Given the description of an element on the screen output the (x, y) to click on. 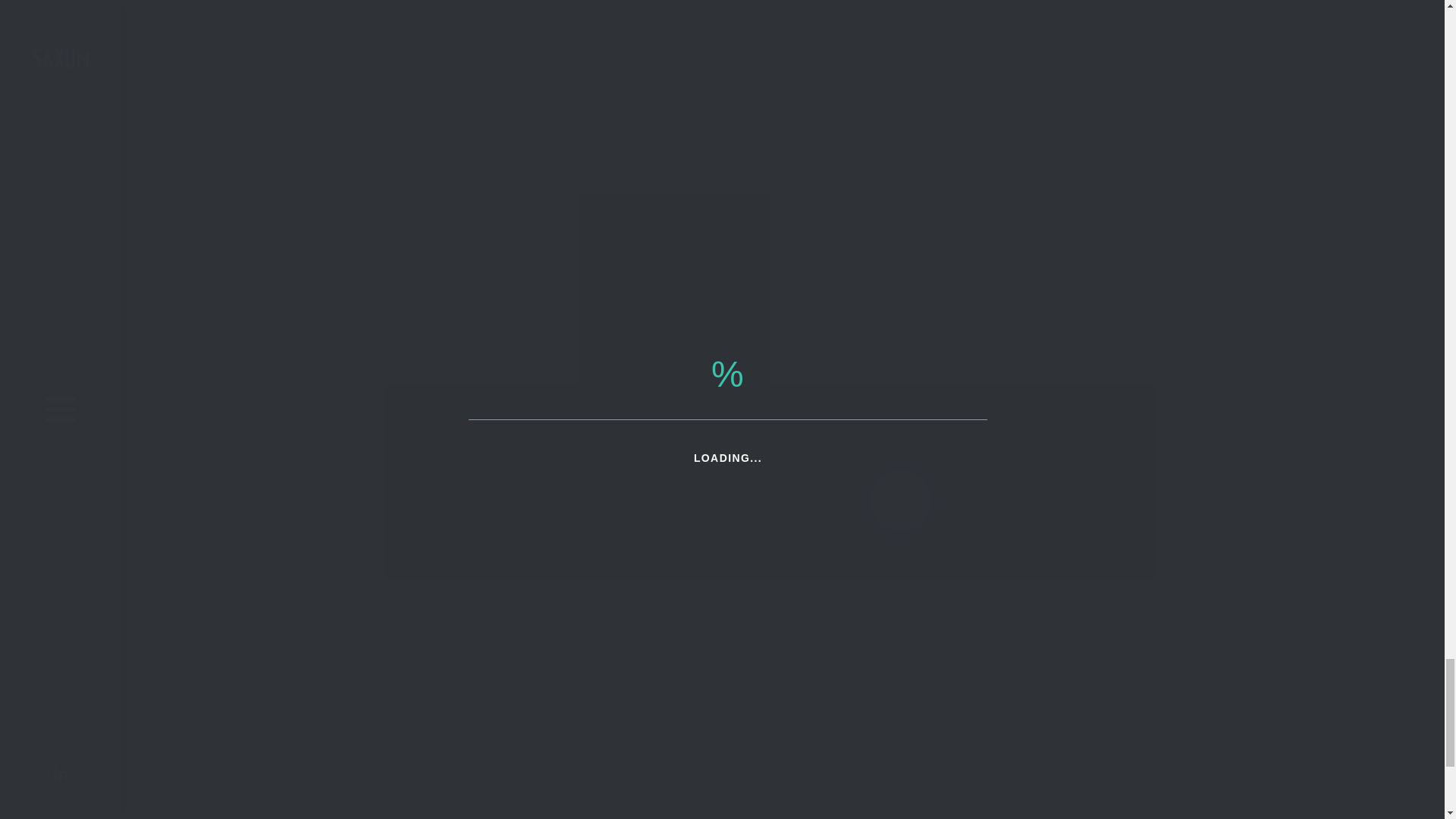
RED BANK TENANT PROVENTIONBIO RIBBON CUTTING (634, 19)
